Given the description of an element on the screen output the (x, y) to click on. 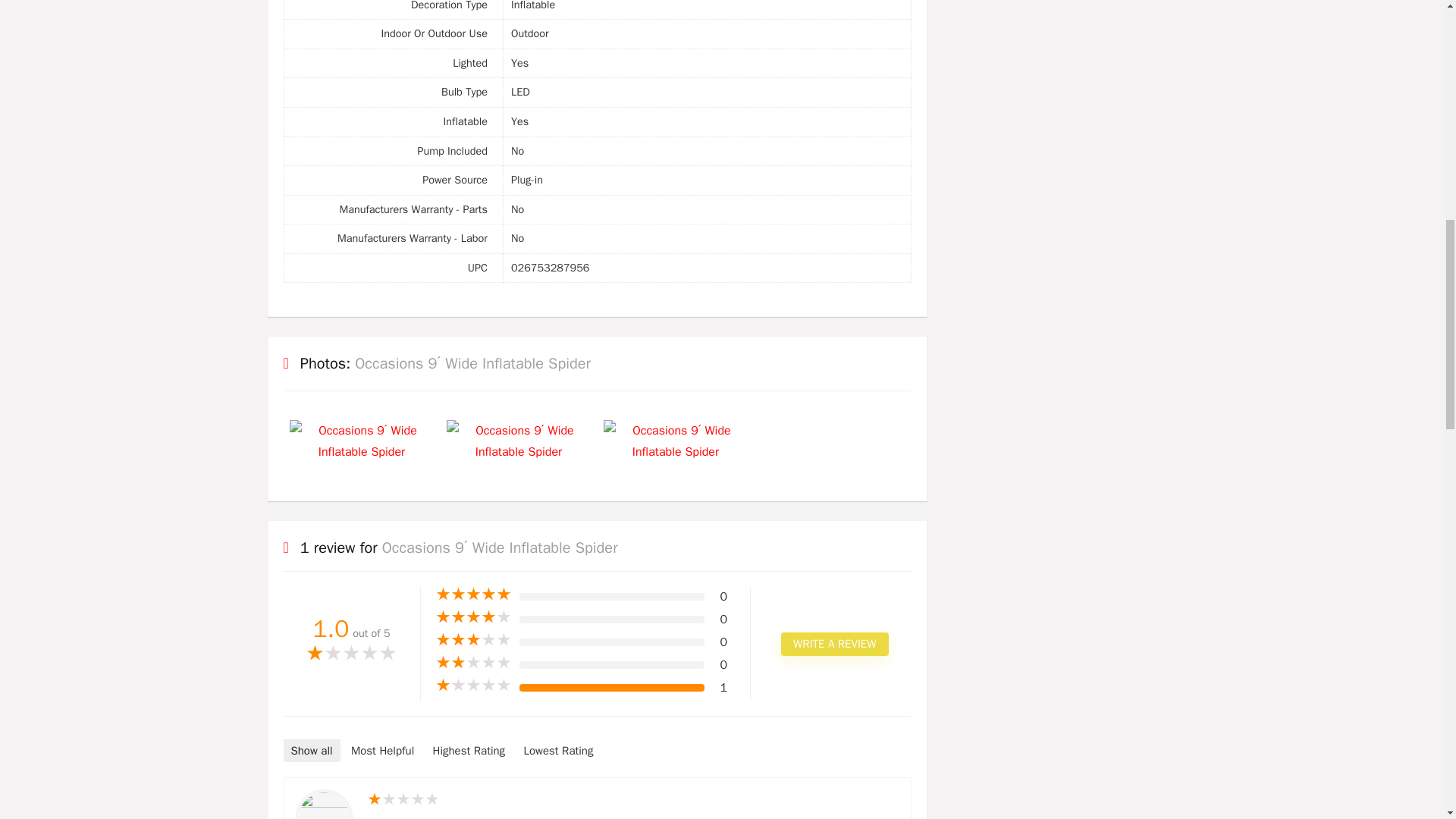
Rated 1 out of 5 (351, 654)
Rated 1 out of 5 (473, 685)
Rated 2 out of 5 (473, 662)
WRITE A REVIEW (834, 644)
Rated 3 out of 5 (473, 639)
Rated 5 out of 5 (473, 594)
Rated 1 out of 5 (632, 799)
Rated 4 out of 5 (473, 616)
